Given the description of an element on the screen output the (x, y) to click on. 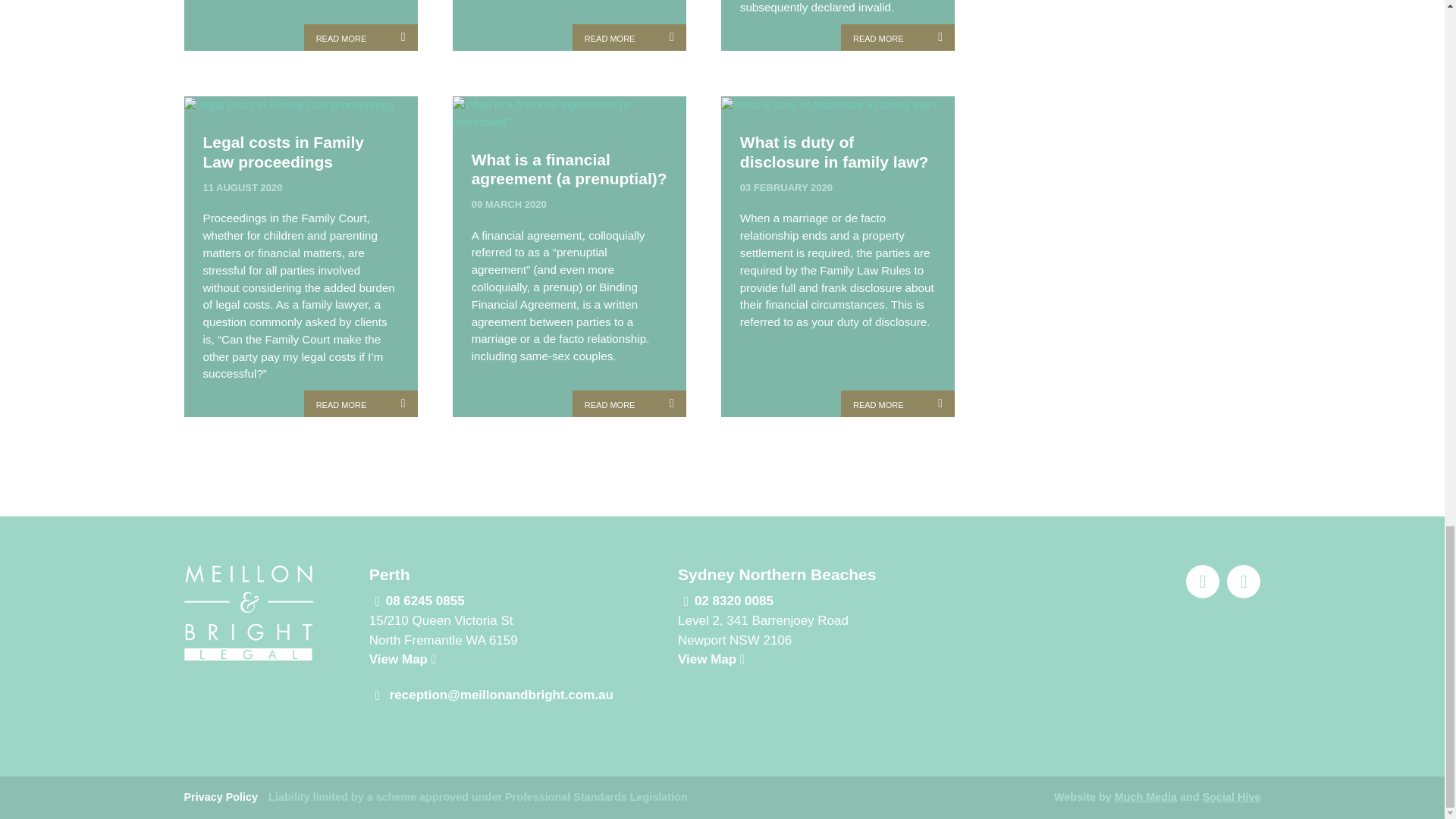
LinkedIn (1203, 581)
READ MORE (628, 37)
Facebook (1243, 581)
READ MORE (360, 37)
